Given the description of an element on the screen output the (x, y) to click on. 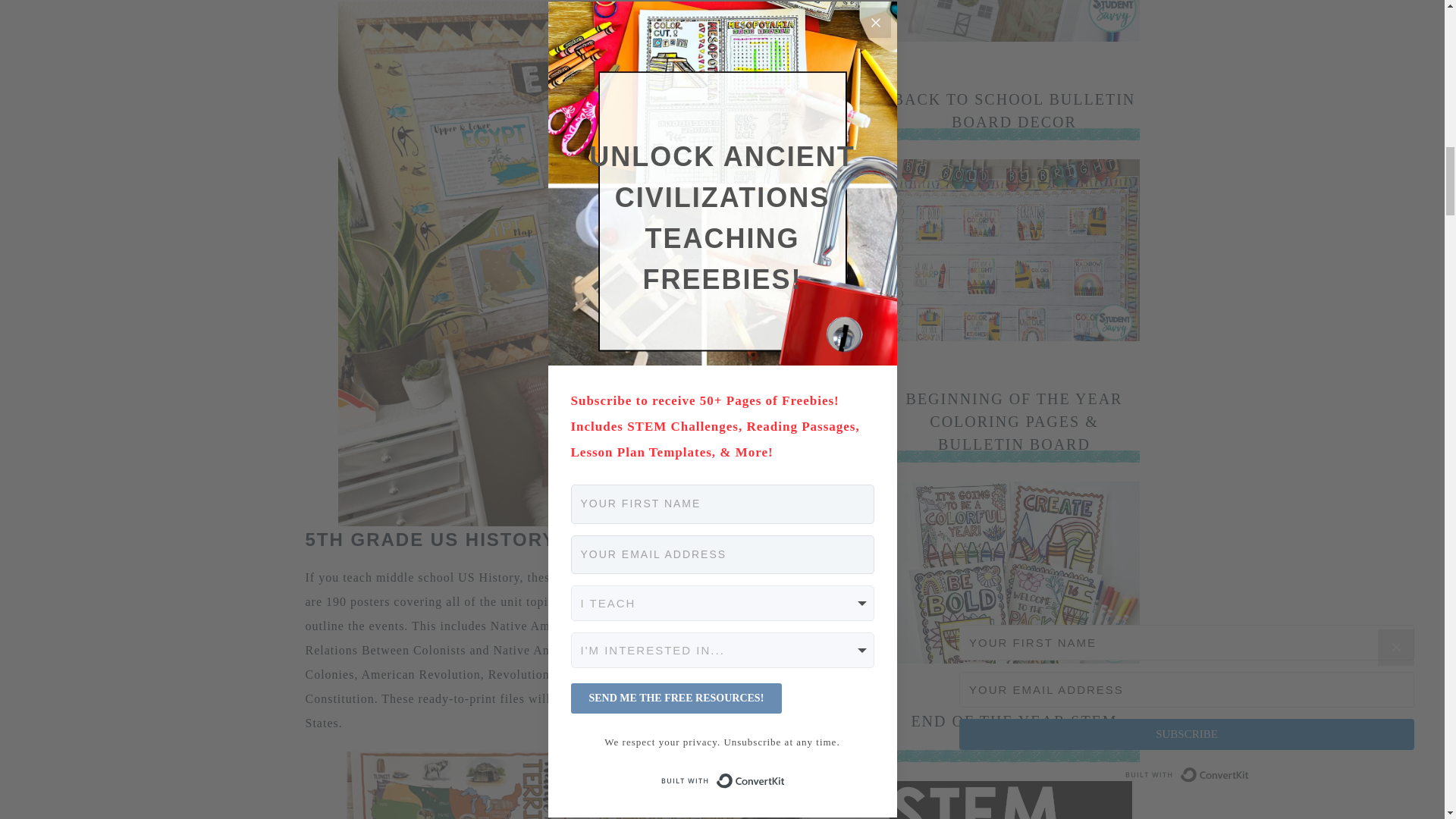
US History Classroom Posters (645, 576)
Back to School Bulletin Board Decor (1013, 336)
Teacher Planners (1013, 37)
